Given the description of an element on the screen output the (x, y) to click on. 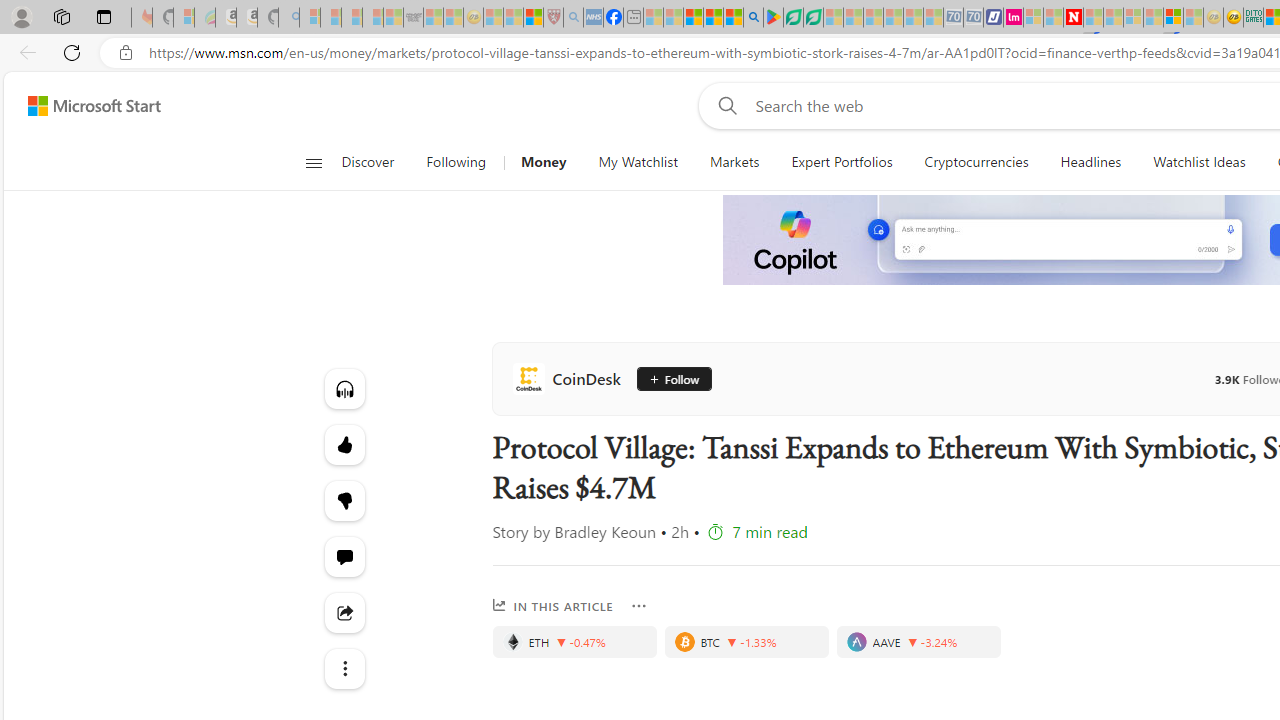
Headlines (1090, 162)
Bluey: Let's Play! - Apps on Google Play (773, 17)
Cryptocurrencies (975, 162)
More Options (639, 606)
My Watchlist (637, 162)
BTC, Bitcoin. Price is 60,500.89. Decreased by -1.33% (746, 641)
